Given the description of an element on the screen output the (x, y) to click on. 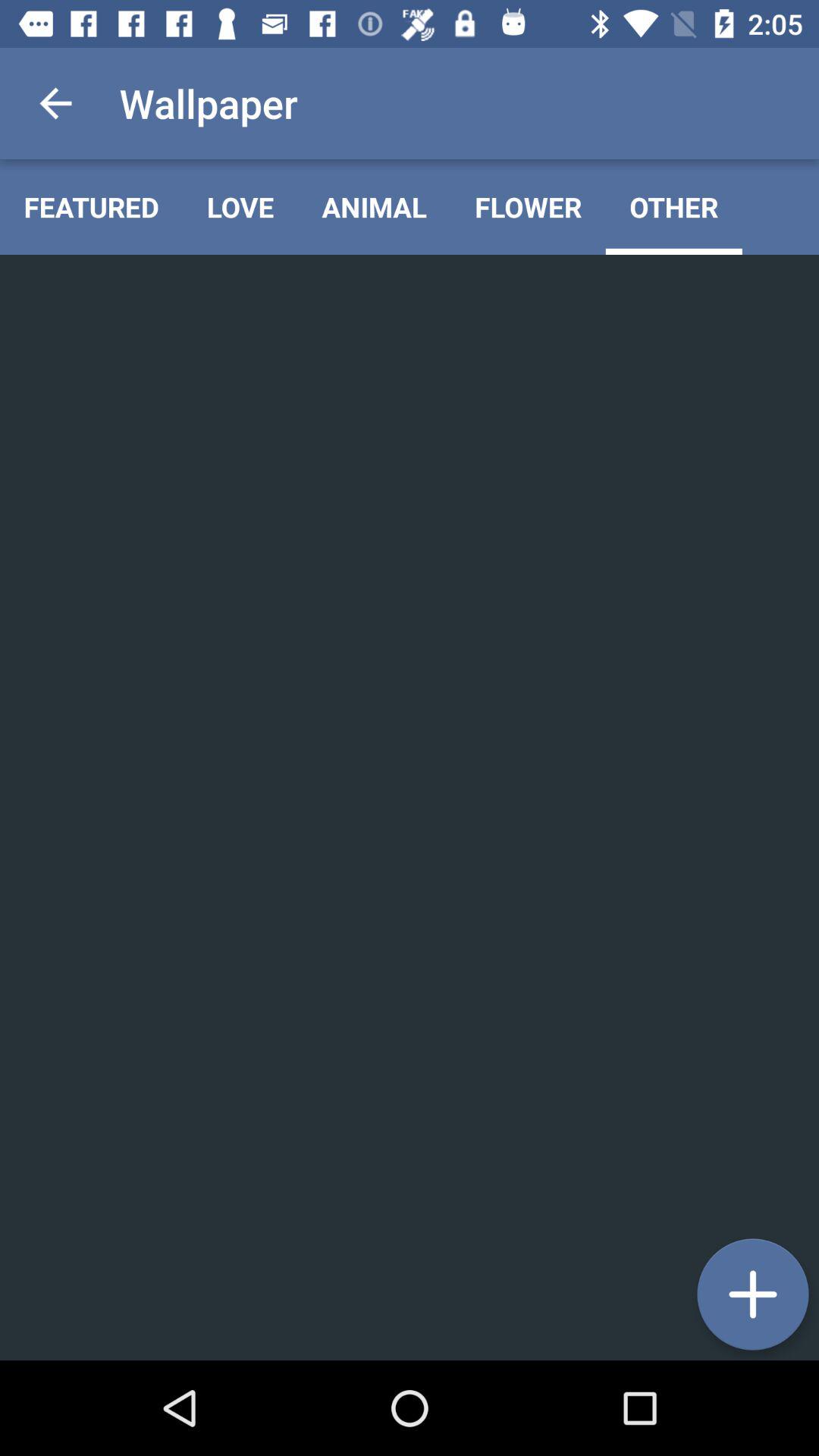
tap the icon next to love (374, 206)
